Given the description of an element on the screen output the (x, y) to click on. 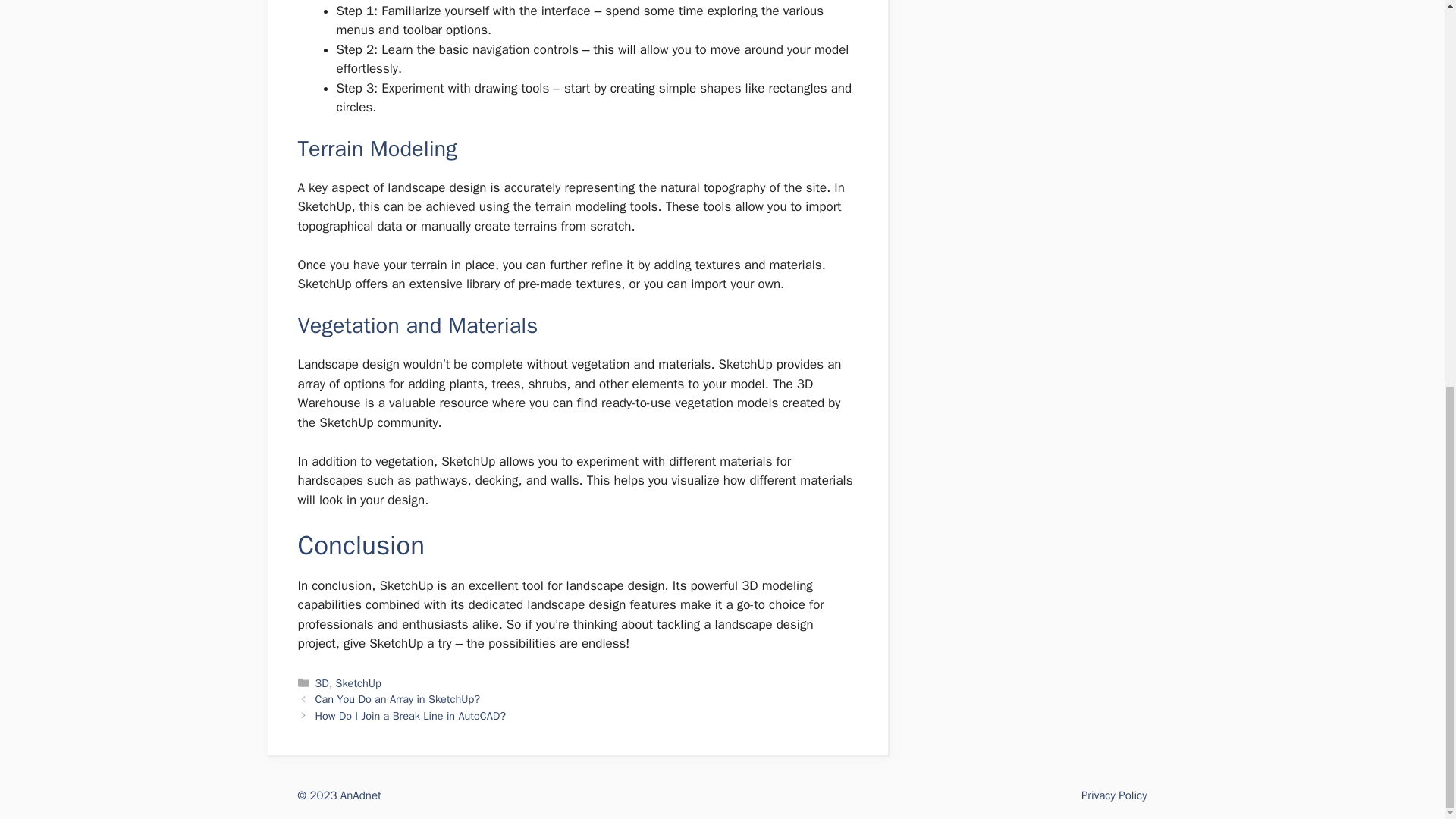
Privacy Policy (1114, 795)
SketchUp (357, 683)
Can You Do an Array in SketchUp? (397, 698)
How Do I Join a Break Line in AutoCAD? (410, 715)
3D (322, 683)
